Given the description of an element on the screen output the (x, y) to click on. 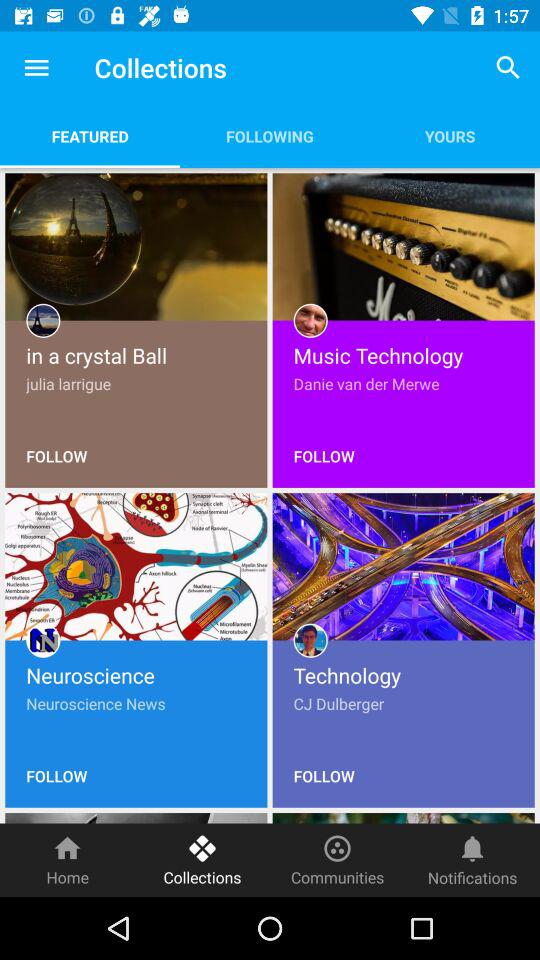
select the icon next to the collections app (36, 67)
